Given the description of an element on the screen output the (x, y) to click on. 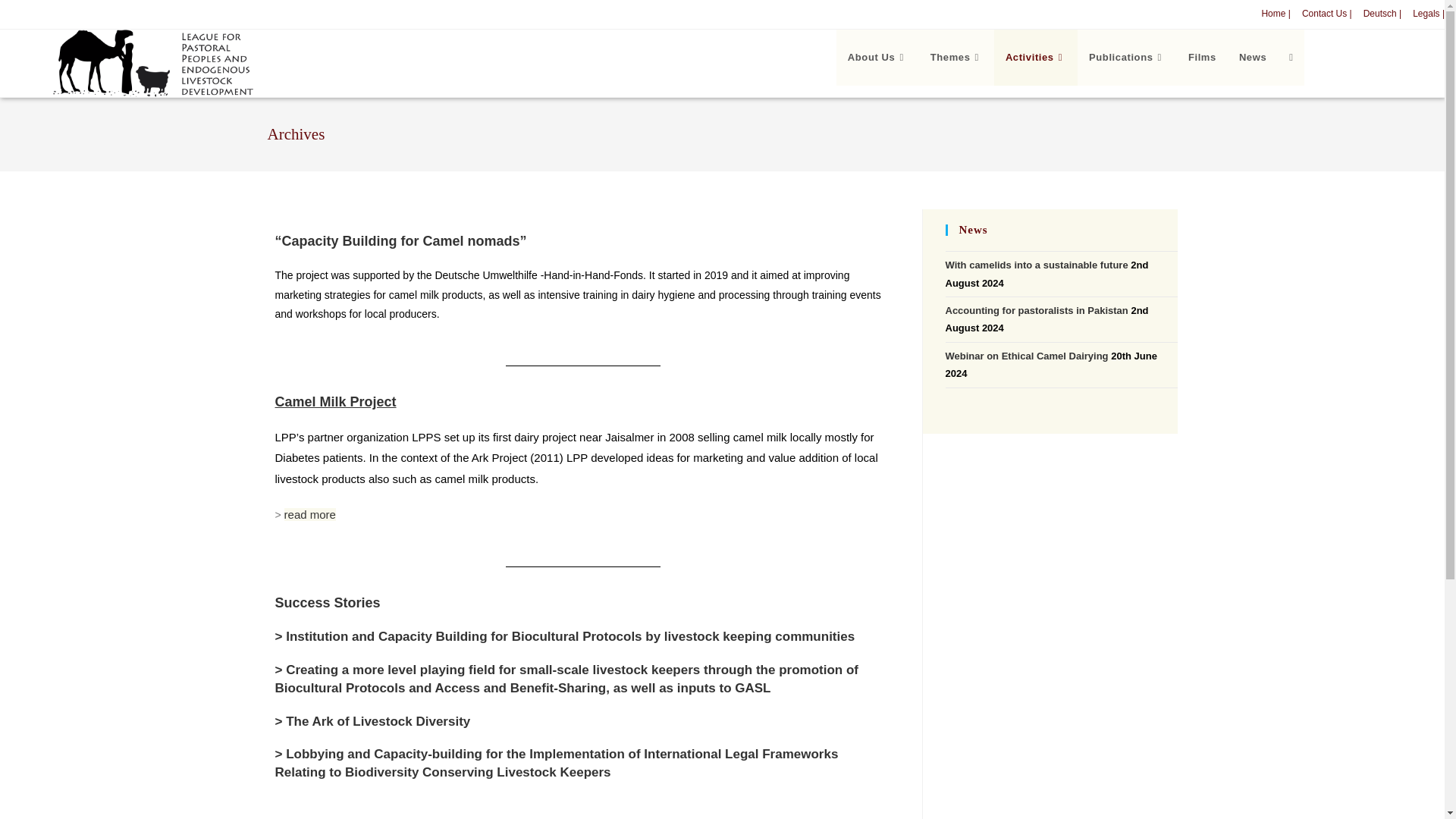
Activities (1035, 57)
News (1252, 57)
Films (1201, 57)
About Us (876, 57)
Themes (956, 57)
Publications (1126, 57)
